Given the description of an element on the screen output the (x, y) to click on. 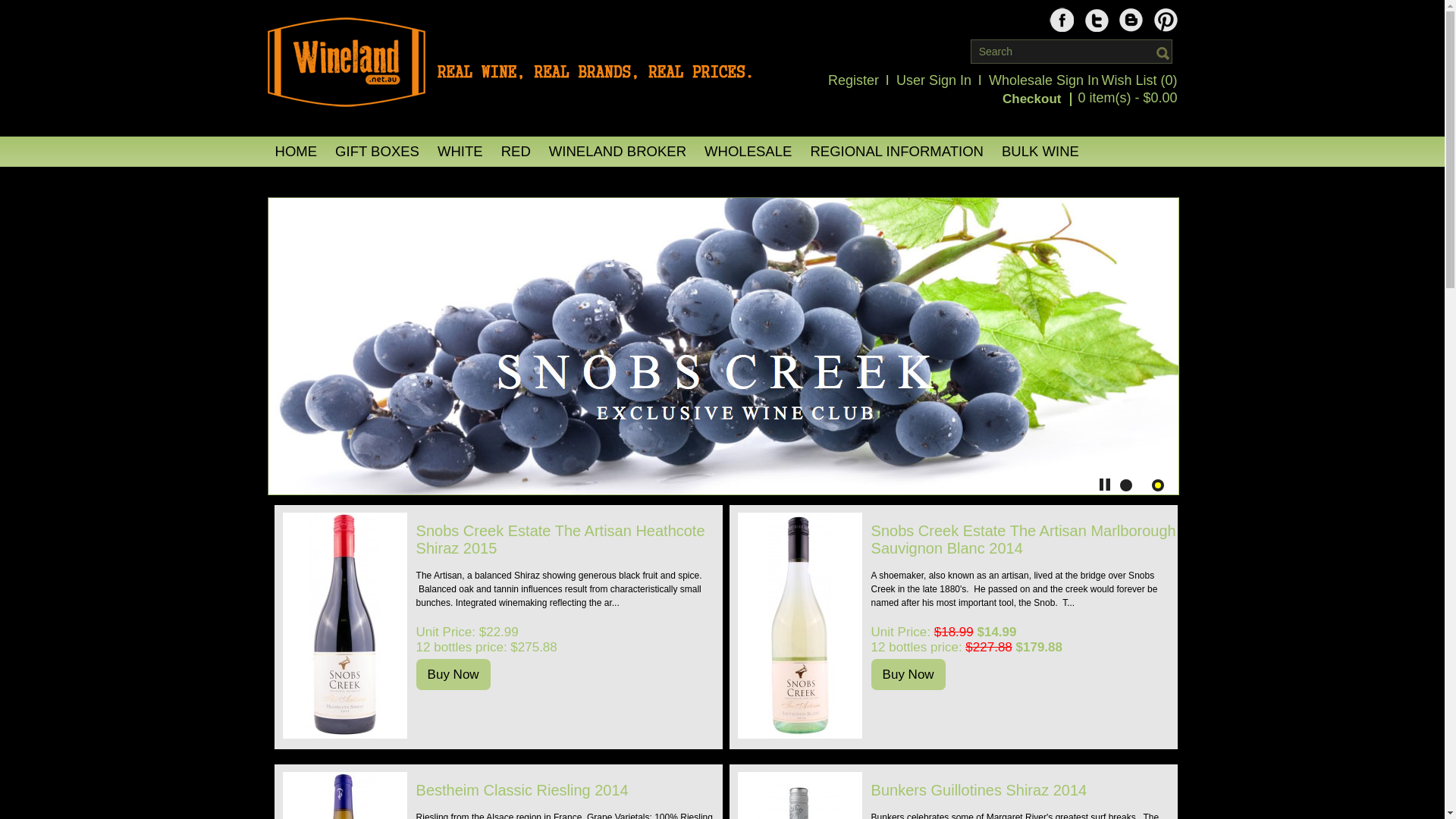
  Element type: text (1061, 19)
  Element type: text (1130, 19)
WHOLESALE Element type: text (747, 151)
Bestheim Classic Riesling 2014 Element type: text (569, 790)
WHITE Element type: text (459, 151)
Checkout Element type: text (1036, 99)
REGIONAL INFORMATION Element type: text (896, 151)
HOME Element type: text (295, 151)
CONTACT US Element type: text (319, 181)
Wholesale Sign In Element type: text (1043, 79)
User Sign In Element type: text (933, 79)
GIFT BOXES Element type: text (376, 151)
RED Element type: text (515, 151)
  Element type: text (1096, 19)
  Element type: text (1164, 19)
Register Element type: text (853, 79)
Wish List (0) Element type: text (1138, 79)
0 item(s) - $0.00 Element type: text (1126, 97)
Snobs Creek Estate The Artisan Heathcote Shiraz 2015 Element type: text (569, 539)
Bunkers Guillotines Shiraz 2014 Element type: text (1024, 790)
Buy Now Element type: text (908, 674)
WINELAND BROKER Element type: text (617, 151)
Wineland Element type: hover (508, 61)
Buy Now Element type: text (453, 674)
BULK WINE Element type: text (1040, 151)
